Given the description of an element on the screen output the (x, y) to click on. 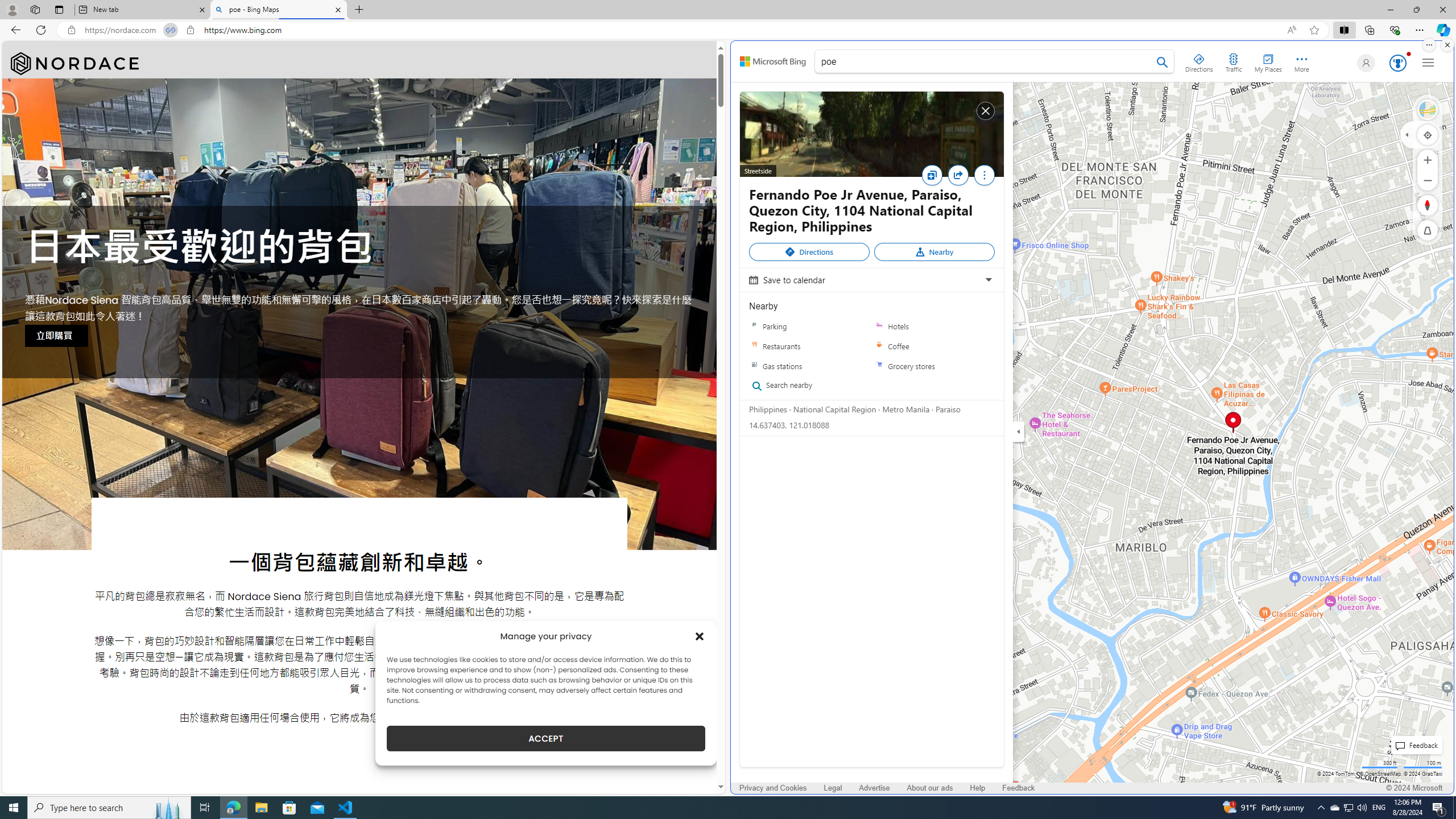
Philippines (767, 408)
About our ads (930, 787)
Zoom In (1427, 159)
Save (931, 174)
Legal (833, 787)
AutomationID: serp_medal_svg (1397, 63)
Coffee (879, 346)
Restaurants (754, 346)
Animation (1408, 53)
